Given the description of an element on the screen output the (x, y) to click on. 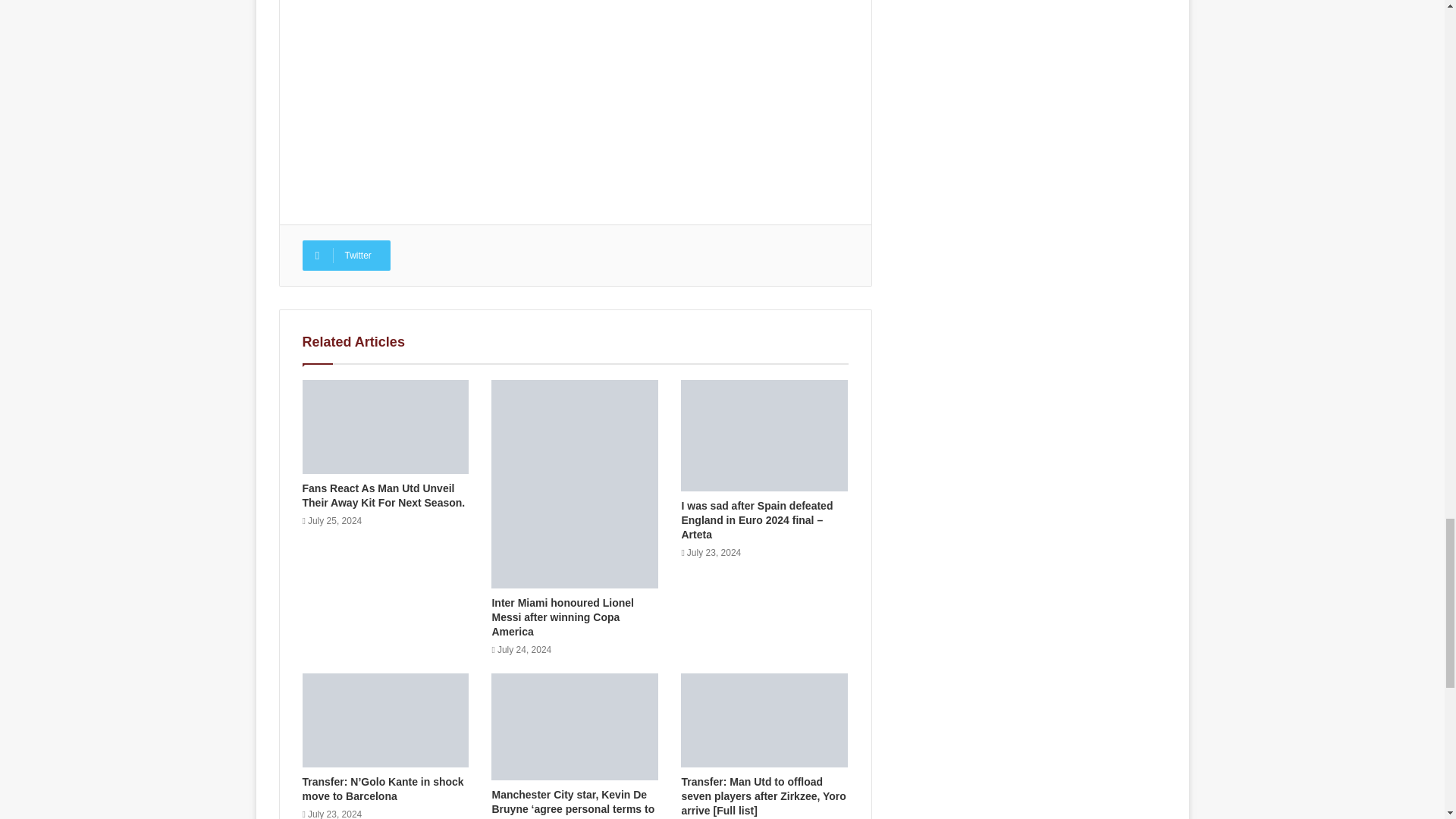
Fans React As Man Utd Unveil Their Away Kit For Next Season. (382, 495)
Twitter (345, 255)
Twitter (345, 255)
Advertisement (574, 86)
Inter Miami honoured Lionel Messi after winning Copa America (562, 617)
